Given the description of an element on the screen output the (x, y) to click on. 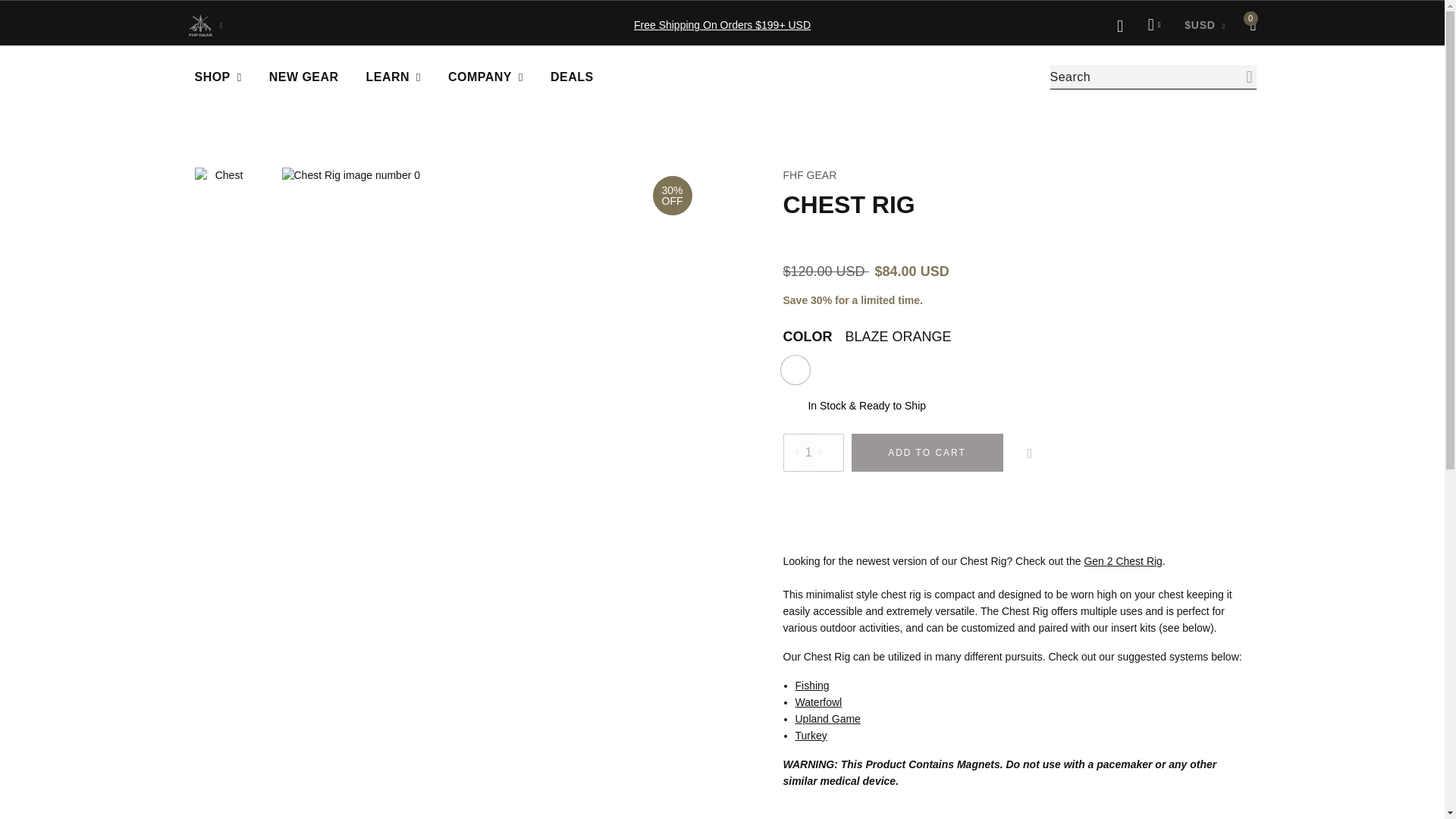
Add Chest Rig to your Wishlist (1029, 452)
FHF Gear (730, 77)
SHOP (223, 76)
